Given the description of an element on the screen output the (x, y) to click on. 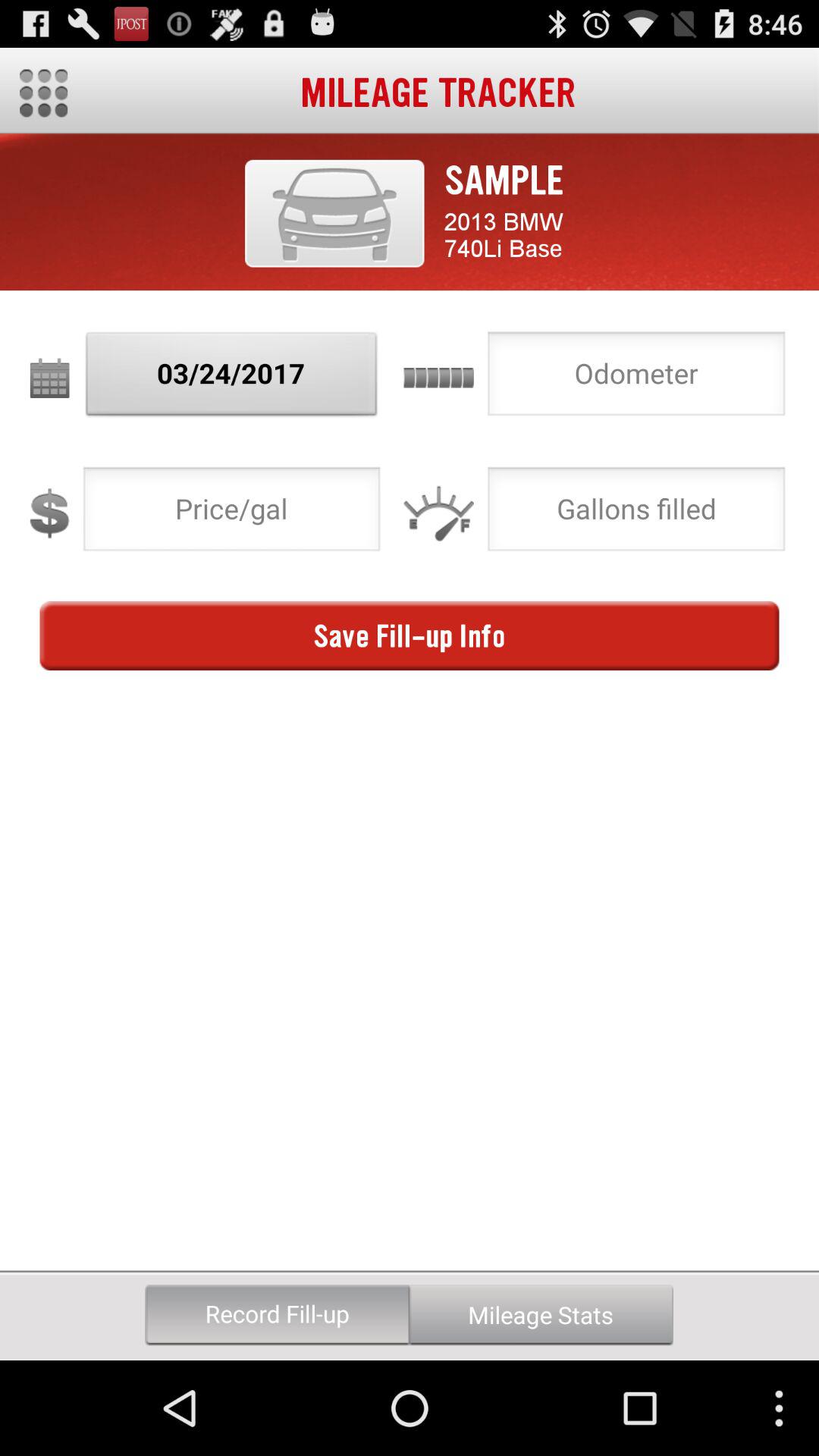
go to settings (43, 93)
